Given the description of an element on the screen output the (x, y) to click on. 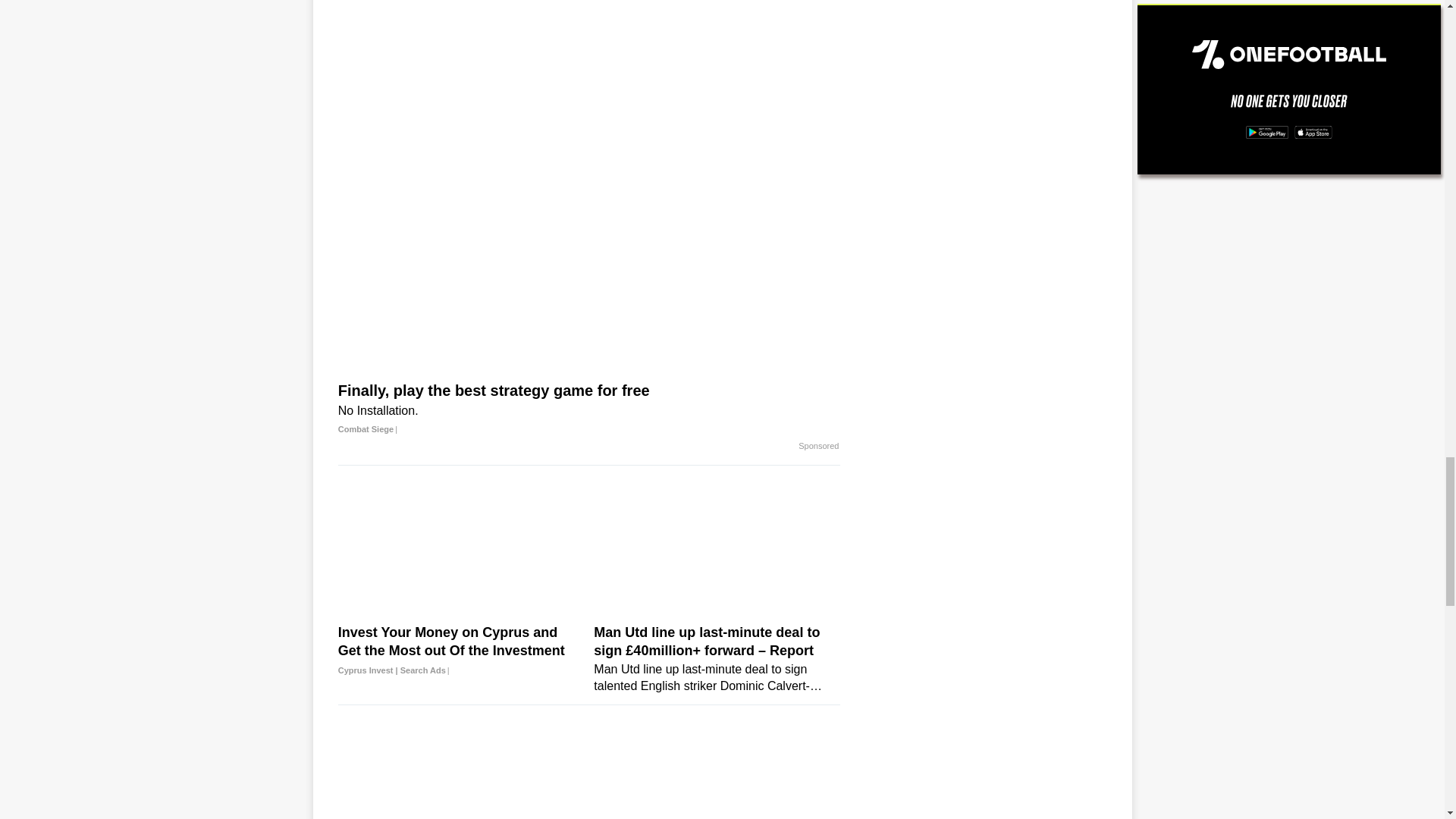
Sponsored (817, 446)
Finally, play the best strategy game for free (588, 409)
